Given the description of an element on the screen output the (x, y) to click on. 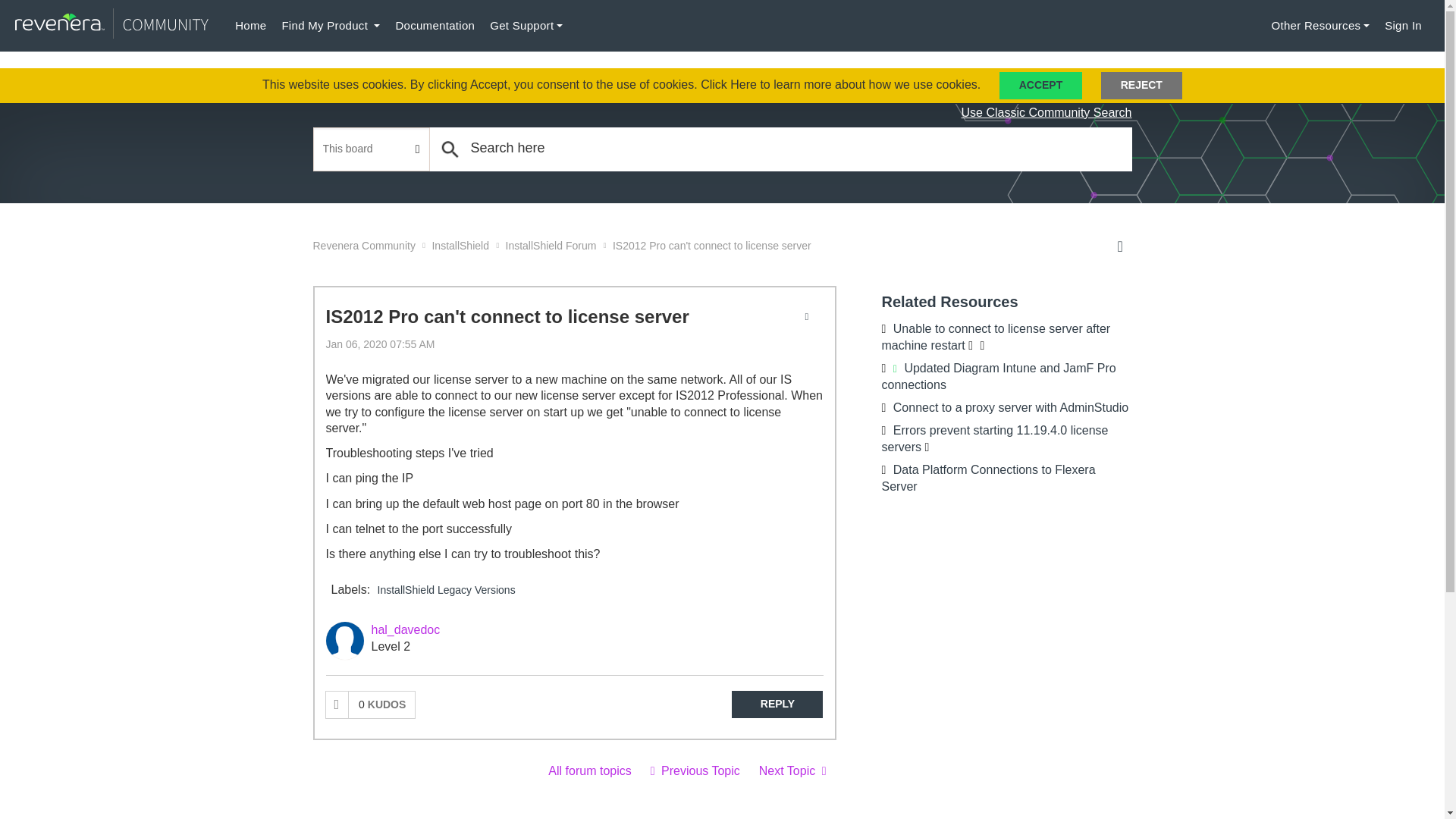
How to clear created files in uninstall. (792, 770)
Other Resources (1320, 25)
Home (250, 25)
Click here to give kudos to this post. (336, 704)
Documentation (434, 25)
Get Support (525, 25)
Show option menu (810, 316)
Search Granularity (371, 148)
Posted on (551, 343)
Click Here (728, 83)
ACCEPT (1040, 85)
InstallShield Forum (589, 770)
The total number of kudos this post has received. (381, 704)
Sign In (1403, 25)
REJECT (1141, 85)
